Given the description of an element on the screen output the (x, y) to click on. 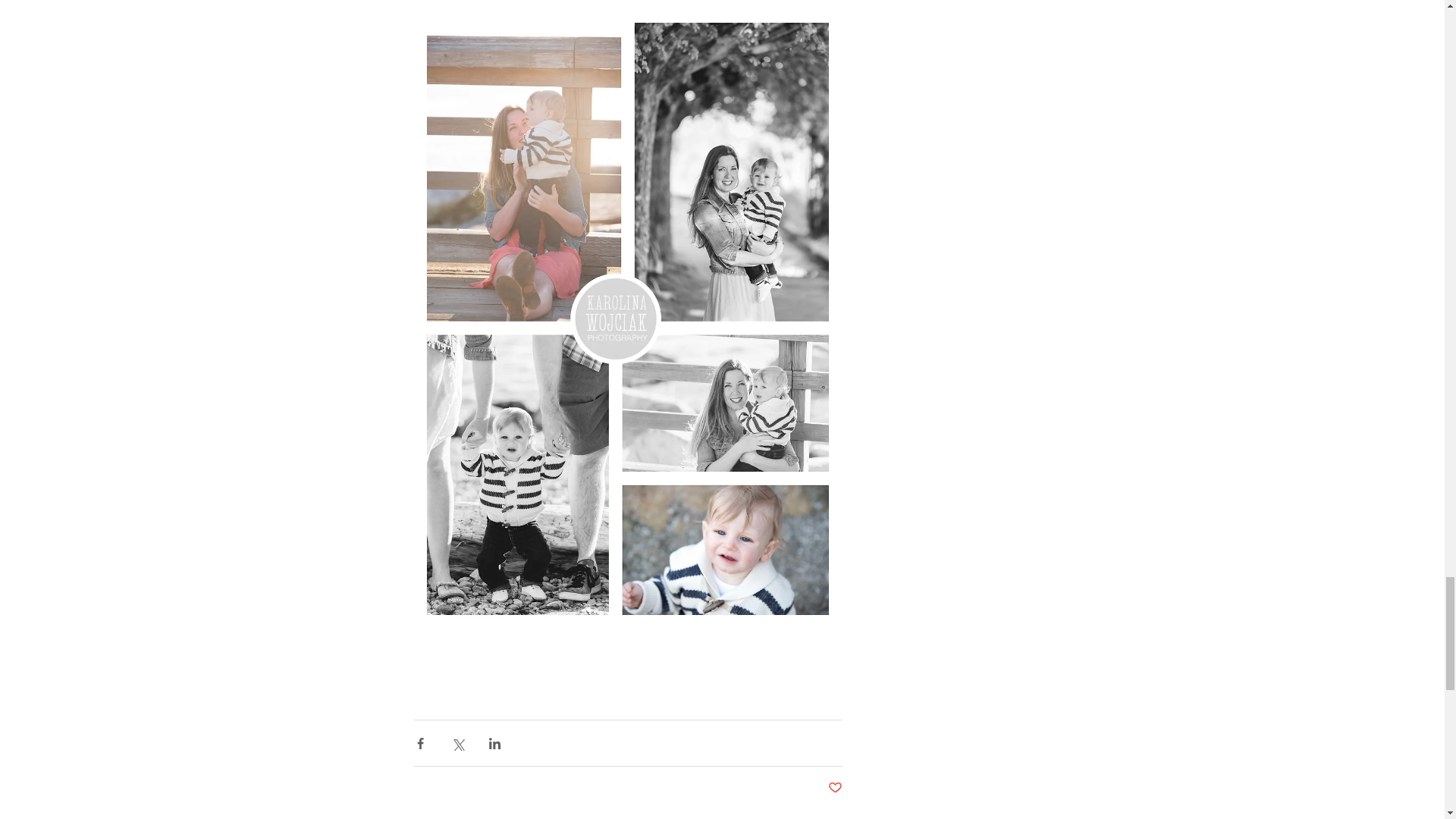
Post not marked as liked (835, 788)
